Given the description of an element on the screen output the (x, y) to click on. 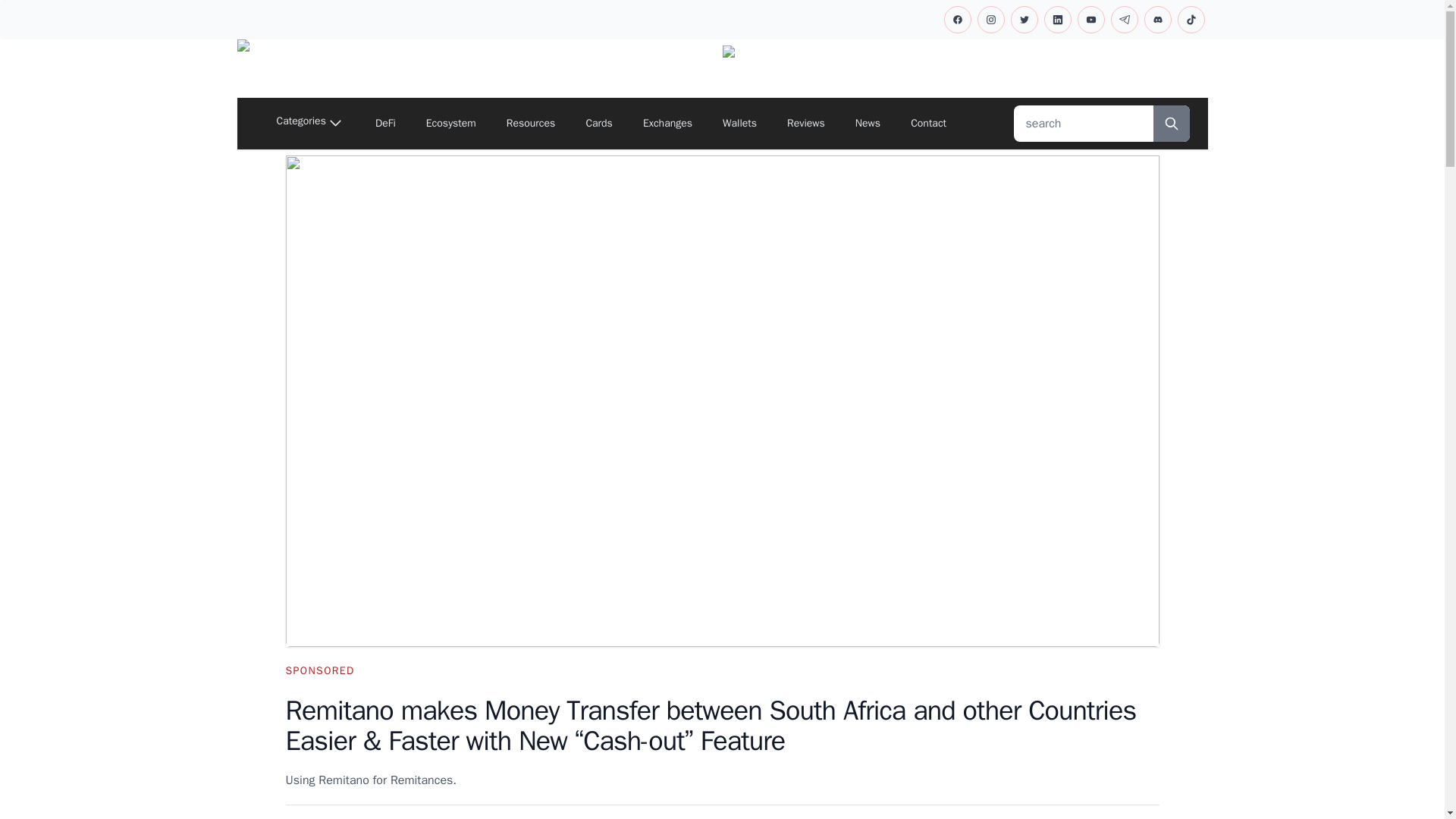
Ecosystem (451, 123)
Wallets (739, 123)
DeFi (384, 123)
Reviews (805, 123)
Resources (531, 123)
Exchanges (667, 123)
News (867, 123)
Contact (927, 123)
Cards (598, 123)
